Given the description of an element on the screen output the (x, y) to click on. 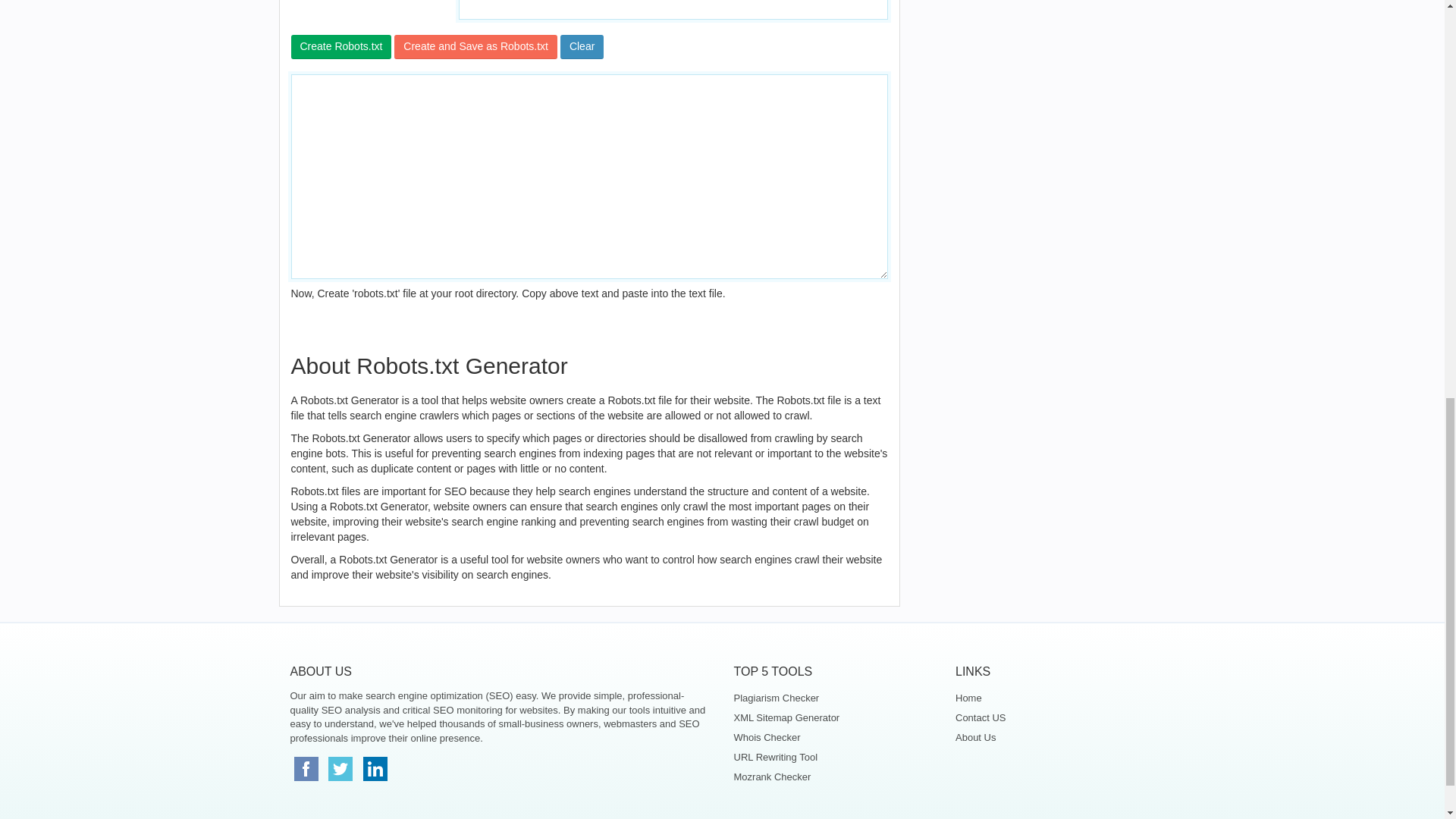
XML Sitemap Generator (833, 718)
Home (1054, 698)
Plagiarism Checker (833, 698)
Contact US (1054, 718)
Mozrank Checker (833, 777)
Clear (582, 46)
About Us (1054, 737)
Create and Save as Robots.txt (475, 46)
URL Rewriting Tool (833, 757)
Whois Checker (833, 737)
Create Robots.txt (341, 46)
